Given the description of an element on the screen output the (x, y) to click on. 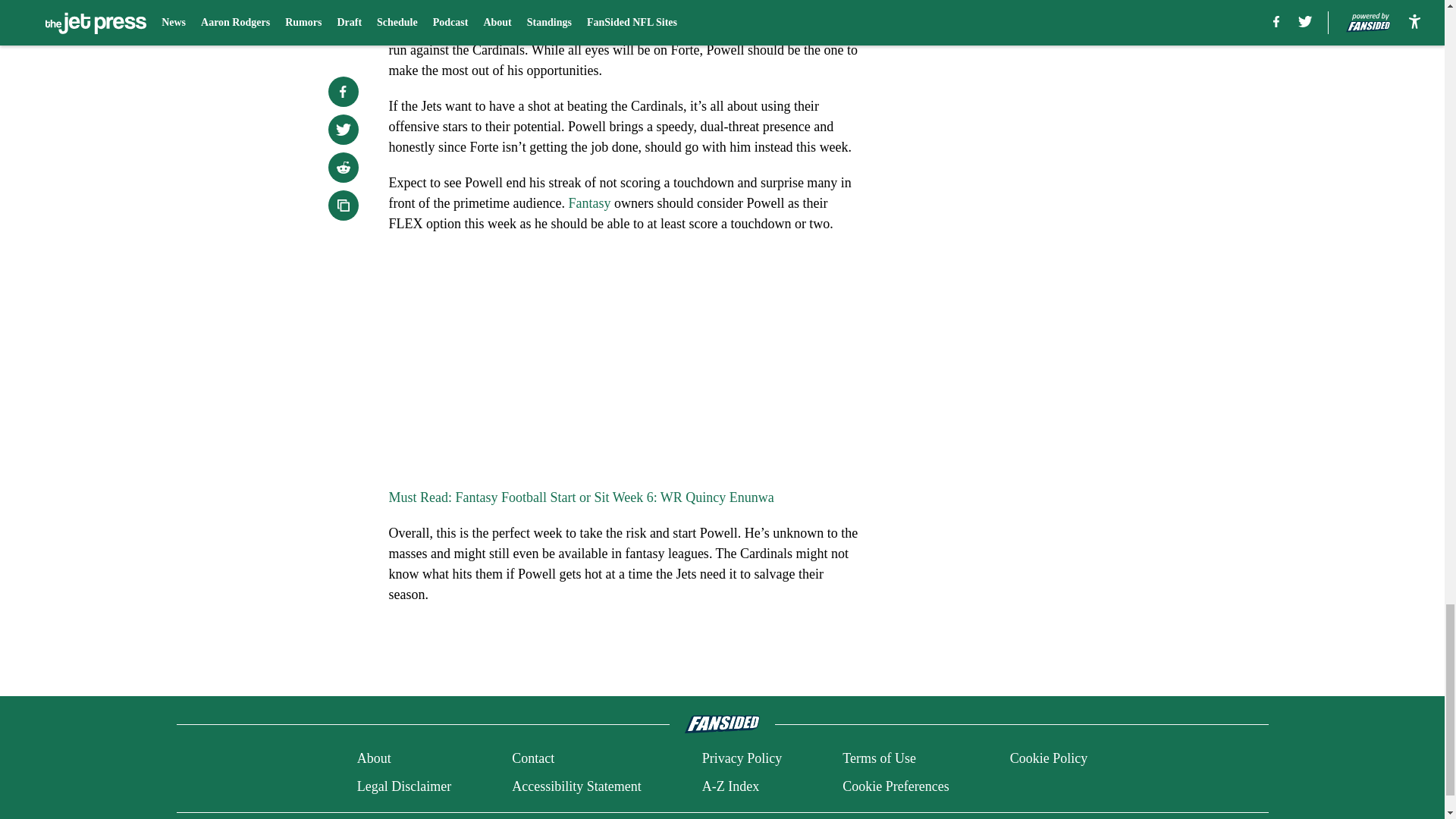
Fantasy (588, 202)
About (373, 758)
Privacy Policy (742, 758)
Contact (533, 758)
Terms of Use (879, 758)
